Given the description of an element on the screen output the (x, y) to click on. 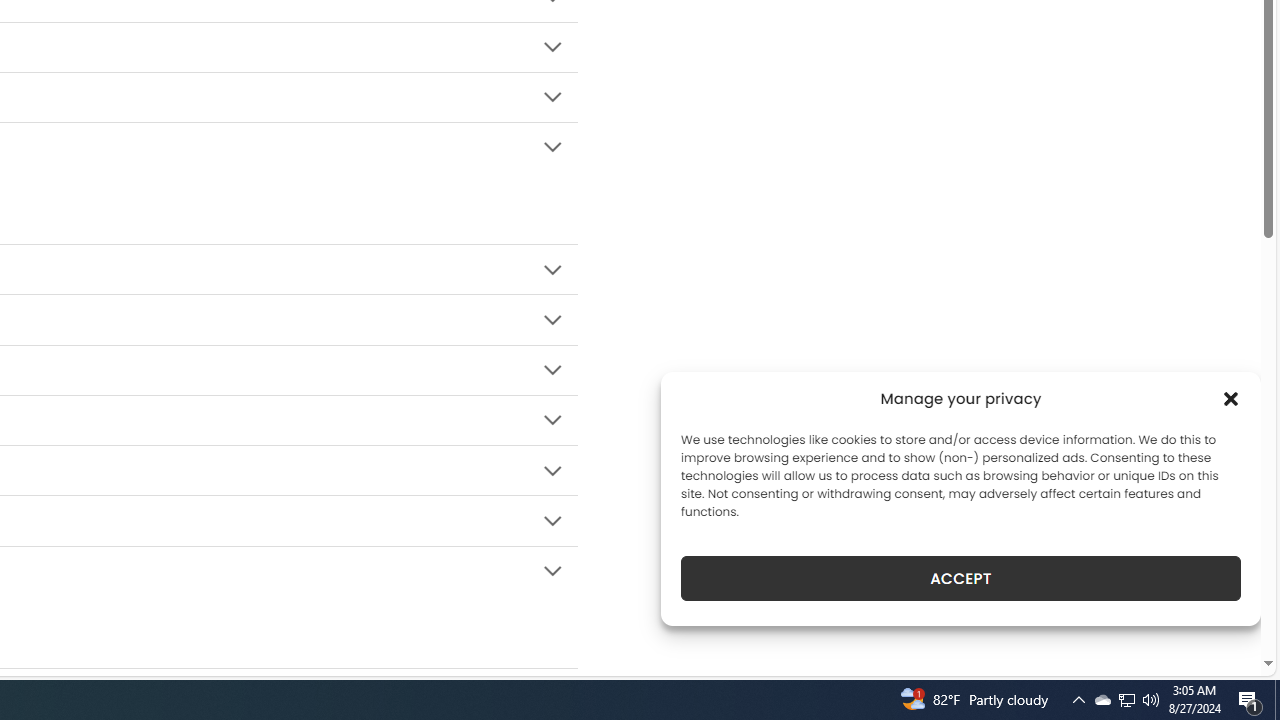
ACCEPT (960, 578)
Class: cmplz-close (1231, 398)
